Given the description of an element on the screen output the (x, y) to click on. 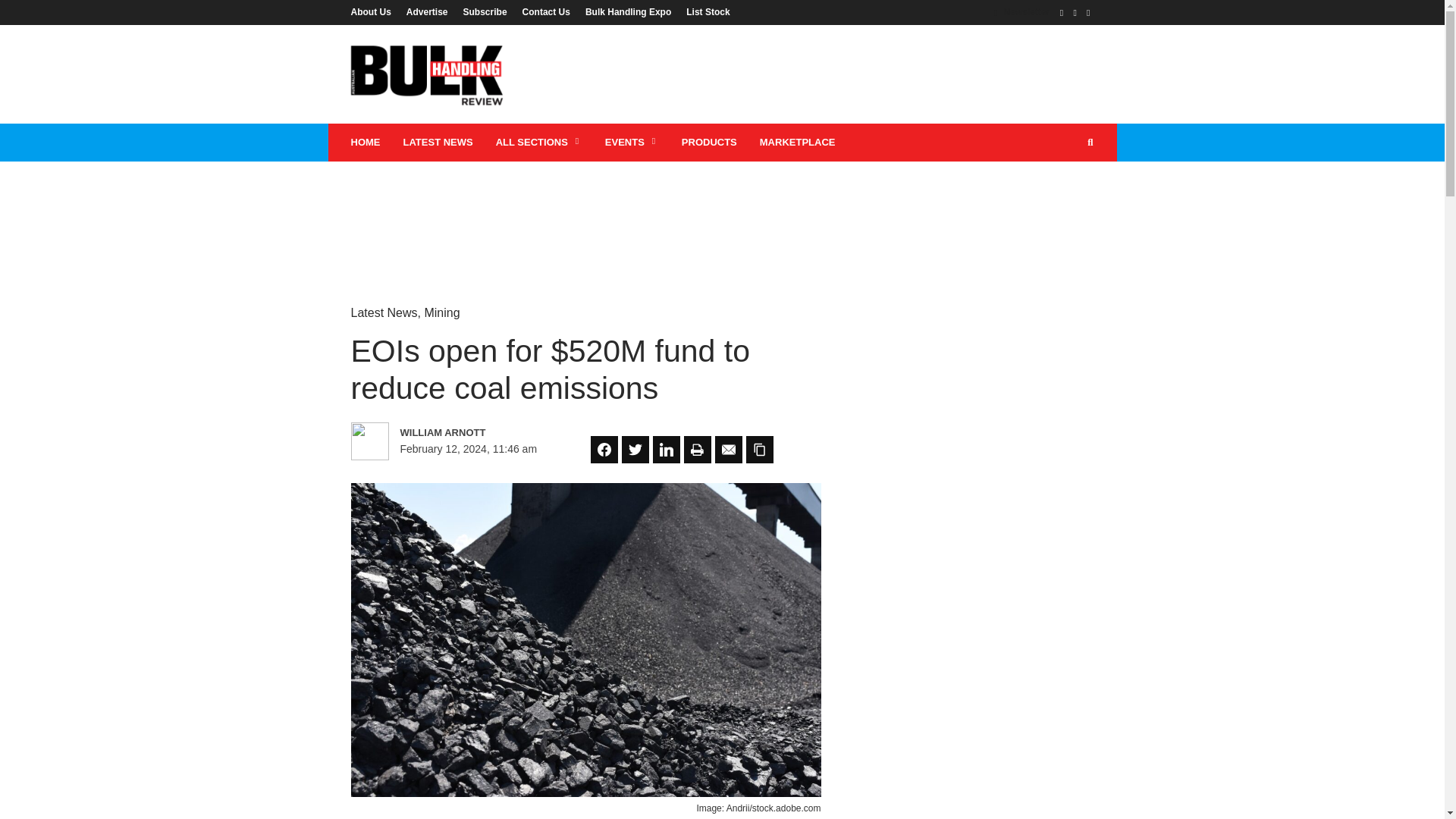
Advertise (426, 11)
ALL SECTIONS (539, 142)
Share on Print (697, 449)
Contact Us (546, 11)
3rd party ad content (721, 210)
Share on Facebook (604, 449)
HOME (365, 142)
List Stock (703, 11)
LATEST NEWS (437, 142)
Subscribe (485, 11)
